Given the description of an element on the screen output the (x, y) to click on. 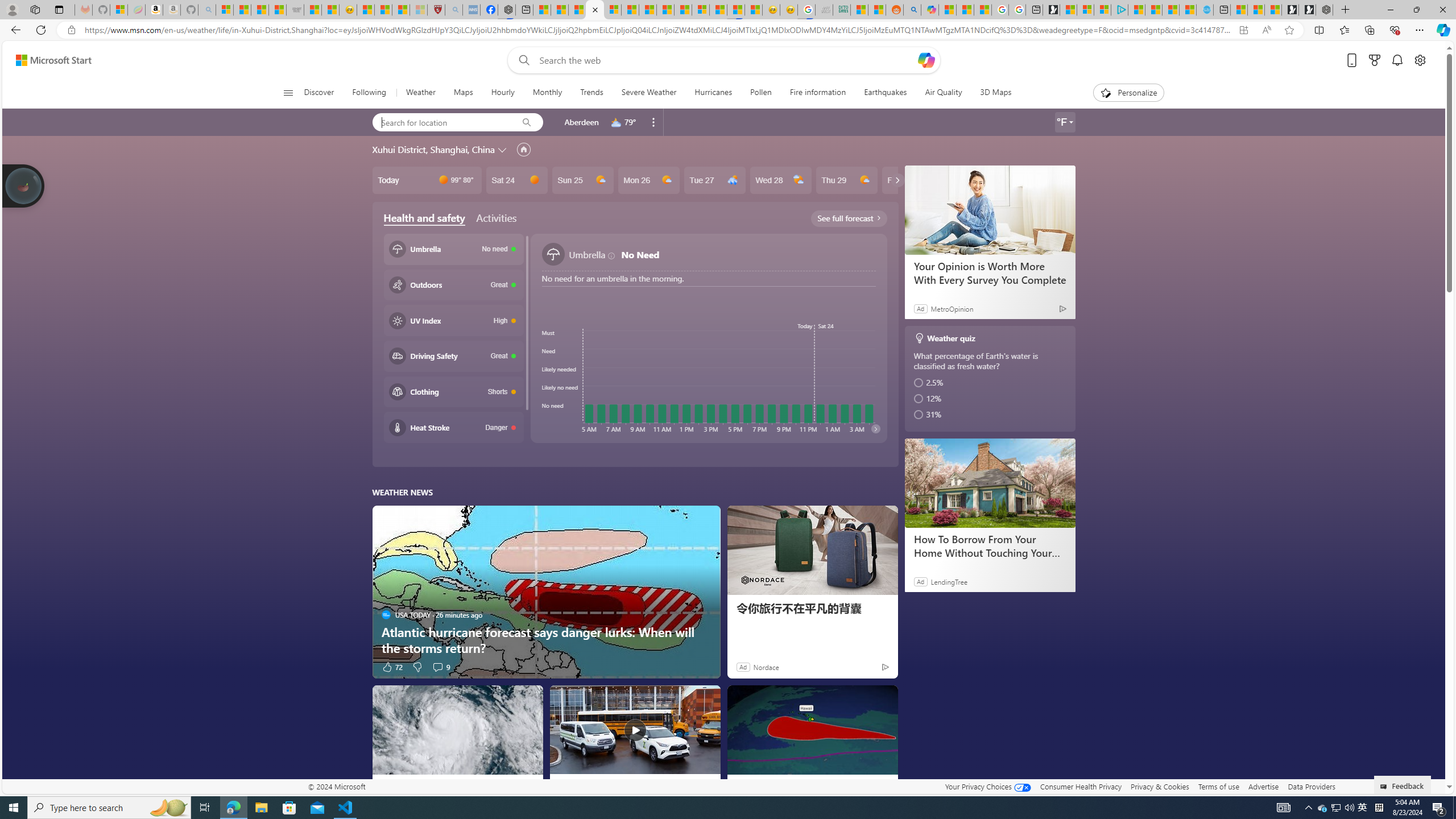
Maps (462, 92)
Advertise (1263, 785)
How To Borrow From Your Home Without Touching Your Mortgage (989, 482)
14 Common Myths Debunked By Scientific Facts (665, 9)
Class: feedback_link_icon-DS-EntryPoint1-1 (1384, 786)
Fri 30 (911, 180)
Heat stroke Danger (453, 427)
The Weather Channel (740, 785)
Close (1442, 9)
Weather (420, 92)
